Given the description of an element on the screen output the (x, y) to click on. 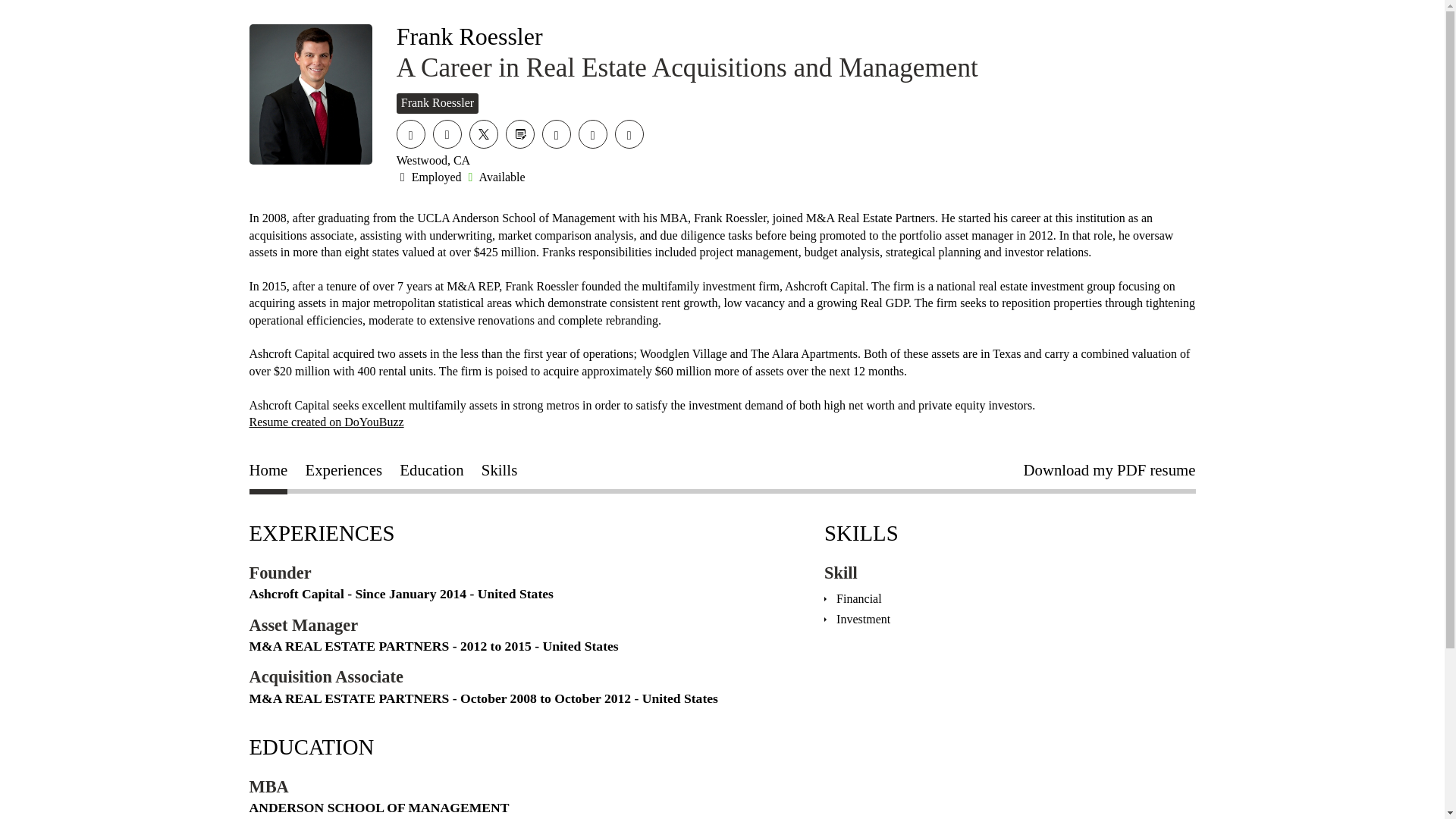
Asset Manager (303, 624)
SKILLS (861, 532)
Download my PDF resume (1109, 473)
Skills (498, 473)
Resume created on DoYouBuzz (325, 421)
Founder (279, 572)
Education (430, 473)
EDUCATION (311, 746)
Acquisition Associate (325, 676)
Experiences (343, 473)
